Given the description of an element on the screen output the (x, y) to click on. 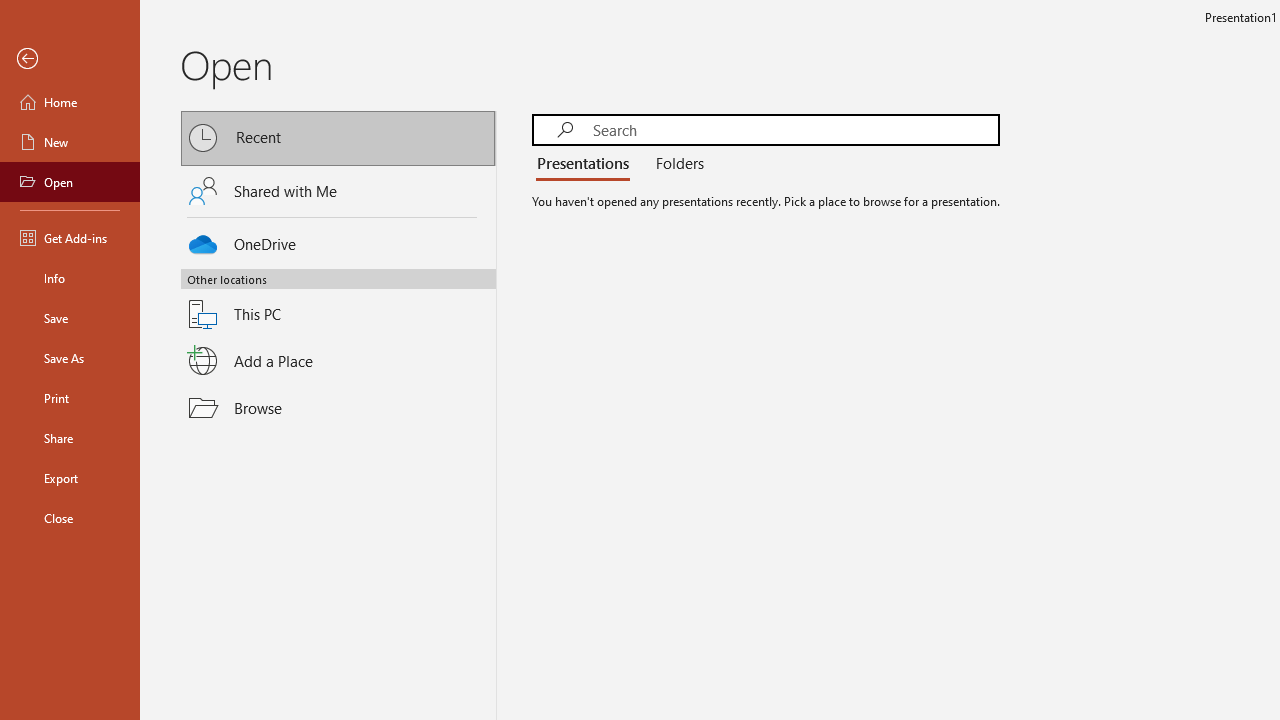
OneDrive (338, 240)
Browse (338, 407)
Folders (676, 164)
Presentations (587, 164)
Info (69, 277)
Recent (338, 138)
Back (69, 59)
Save As (69, 357)
Get Add-ins (69, 237)
Add a Place (338, 361)
